Given the description of an element on the screen output the (x, y) to click on. 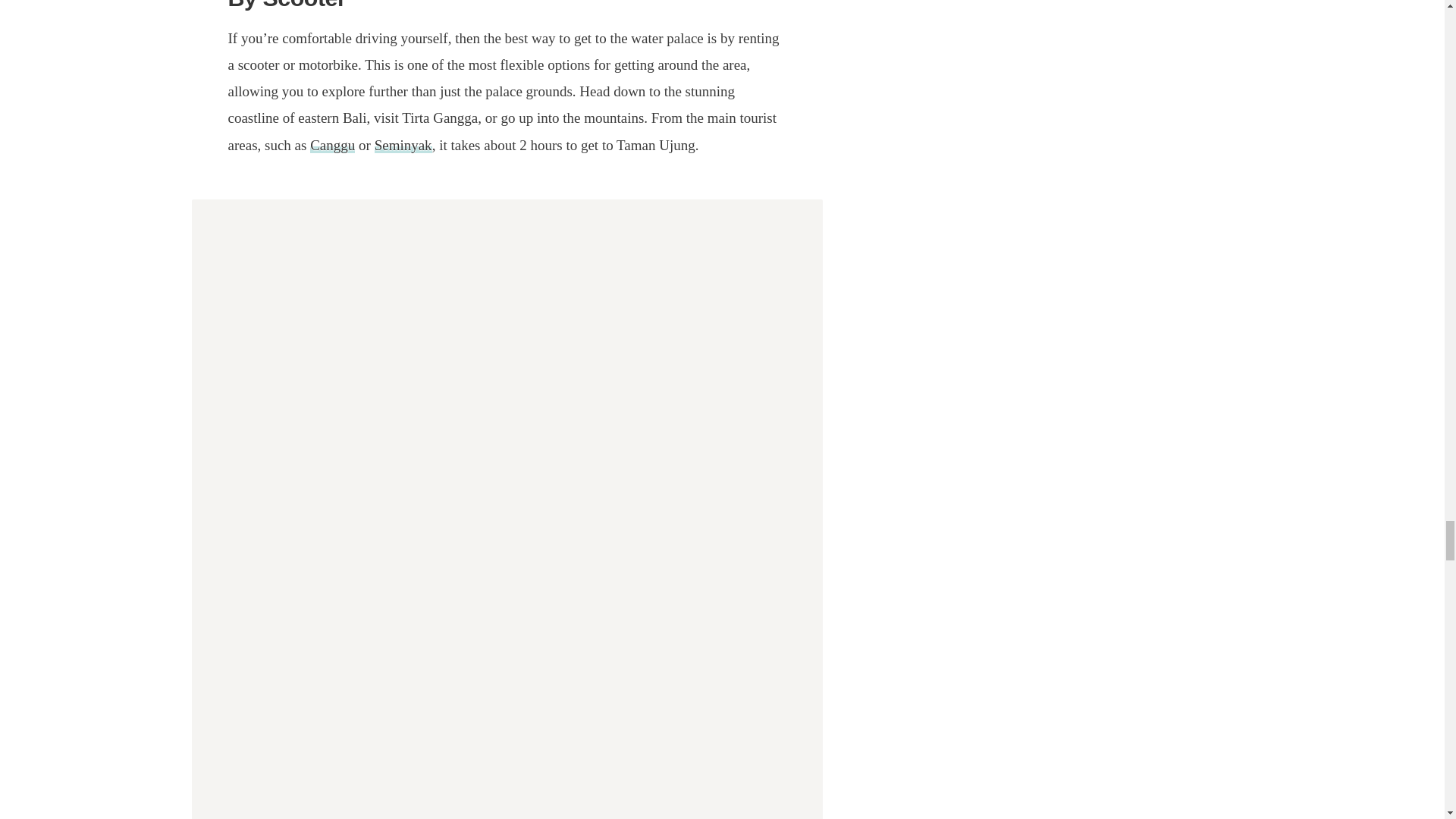
Seminyak (403, 145)
Canggu (332, 145)
